Given the description of an element on the screen output the (x, y) to click on. 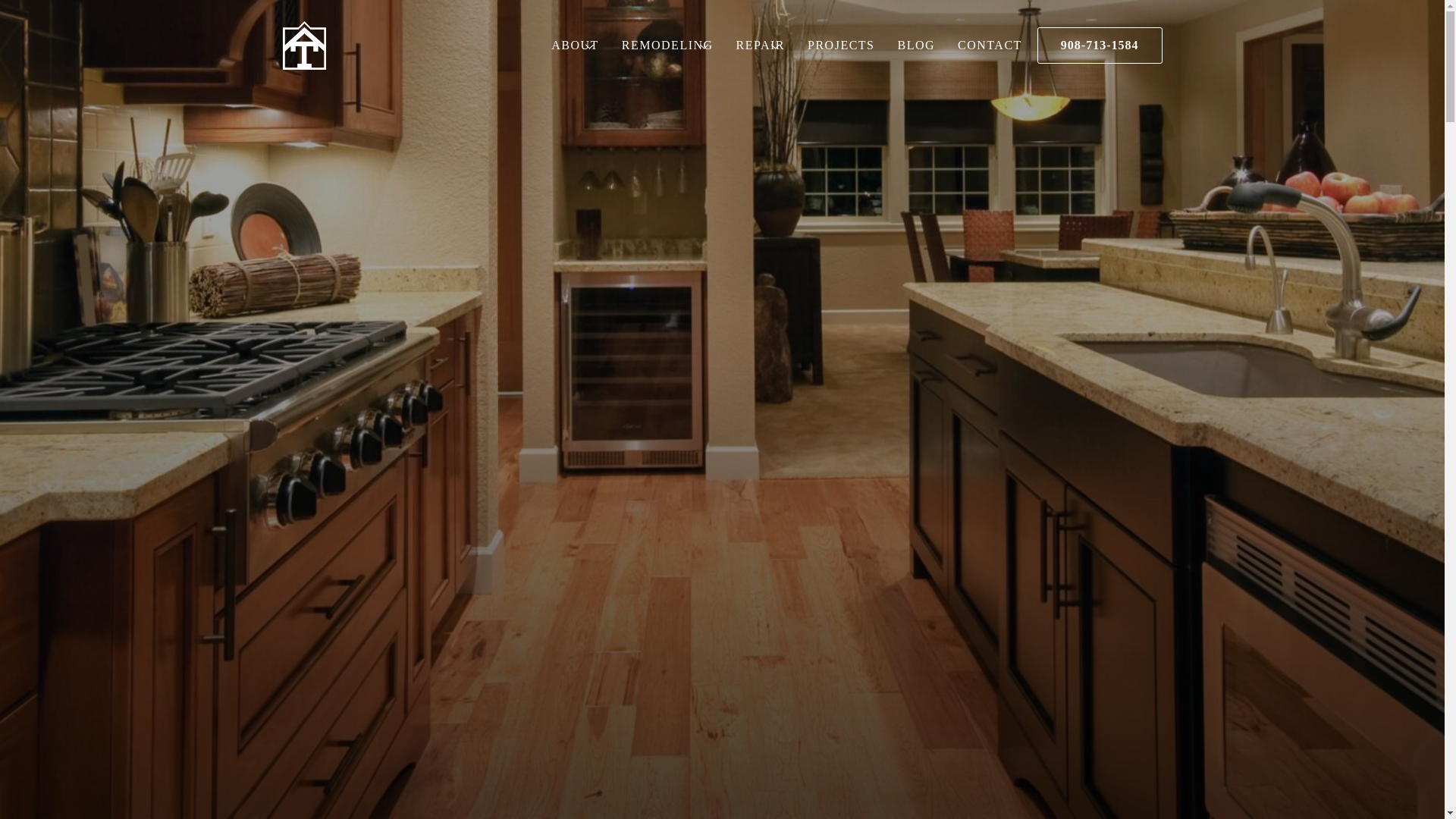
REMODELING (667, 45)
908-713-1584 (1098, 45)
BLOG (916, 45)
REPAIR (760, 45)
PROJECTS (840, 45)
ABOUT (743, 45)
All Trades Contracting (575, 45)
CONTACT (303, 44)
